Given the description of an element on the screen output the (x, y) to click on. 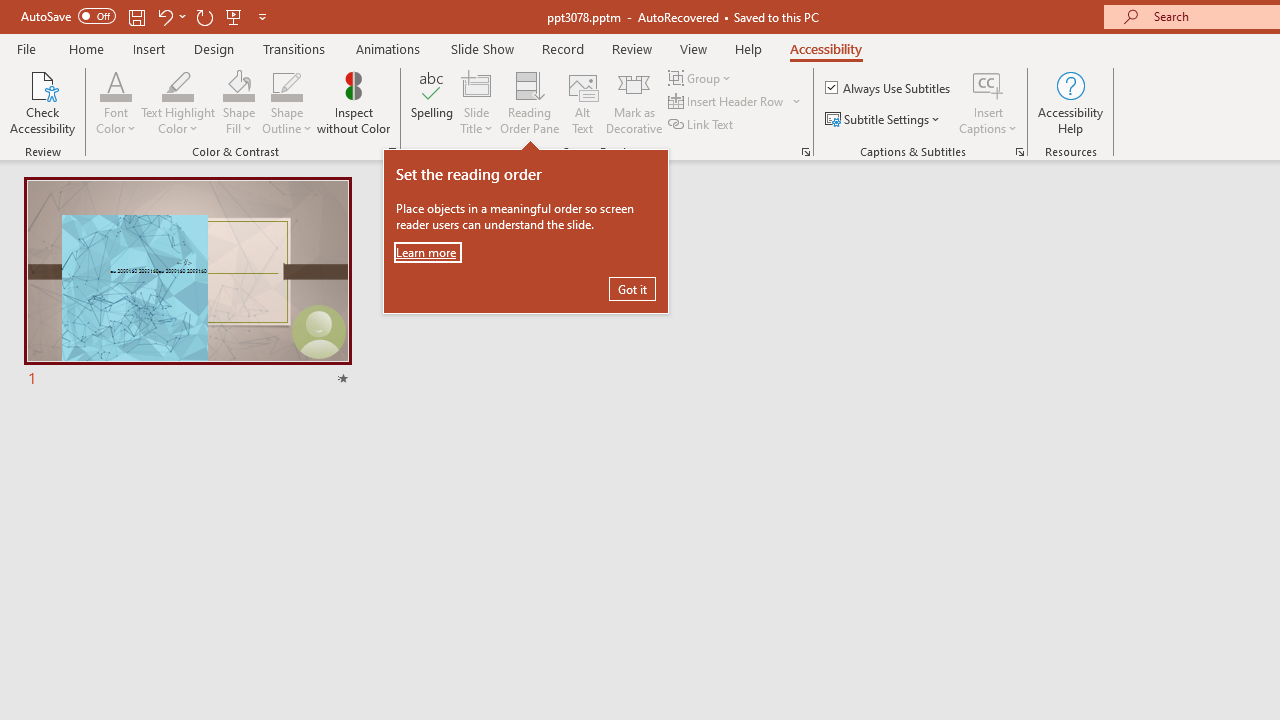
Screen Reader (805, 151)
Got it (632, 288)
Spelling... (432, 102)
Alt Text (582, 102)
Learn more (427, 252)
Reading Order Pane (529, 102)
Slide Title (476, 102)
Slide Title (476, 84)
